Given the description of an element on the screen output the (x, y) to click on. 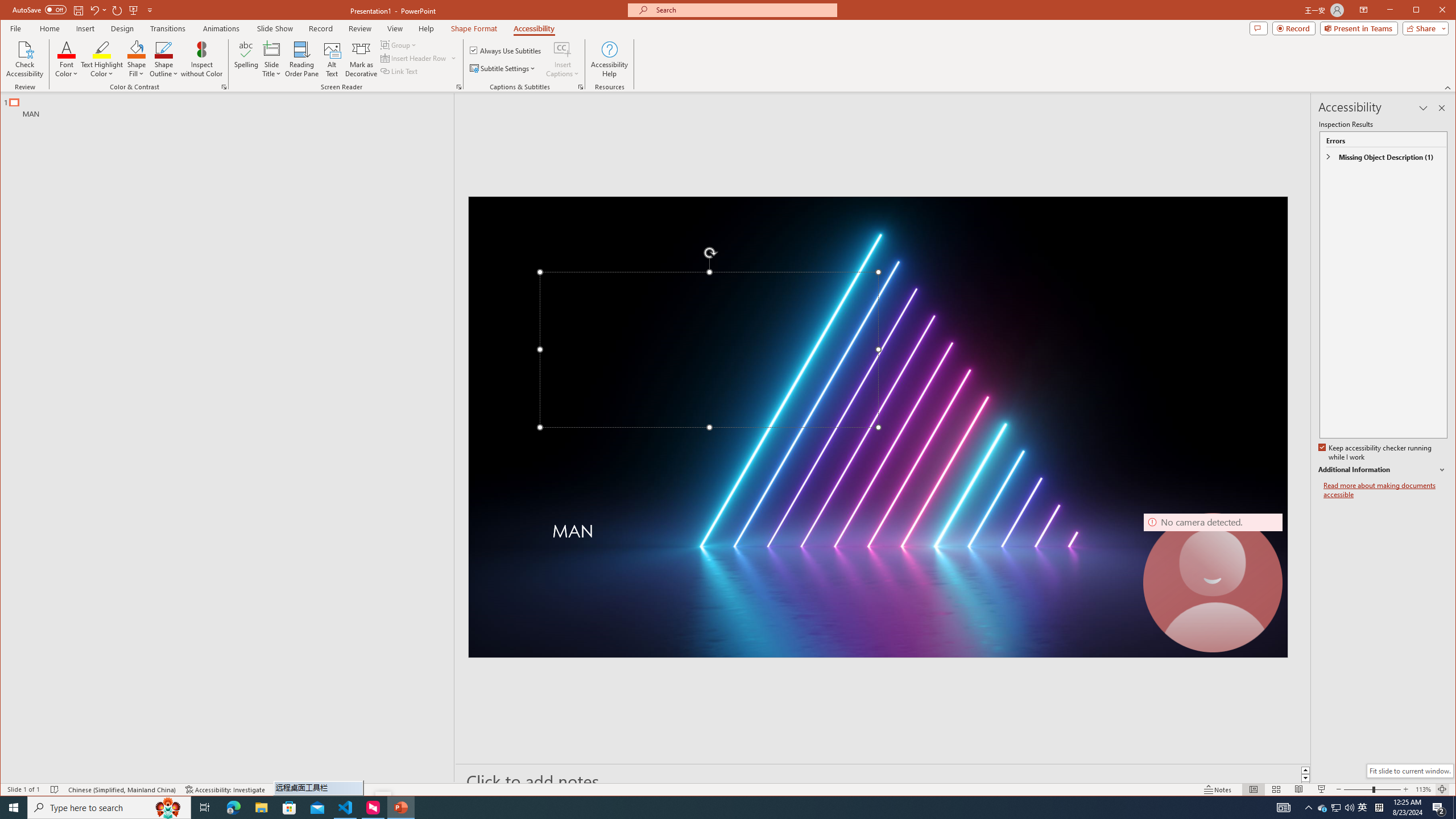
Always Use Subtitles (505, 49)
Outline (231, 104)
Color & Contrast (223, 86)
Reading Order Pane (301, 59)
